Given the description of an element on the screen output the (x, y) to click on. 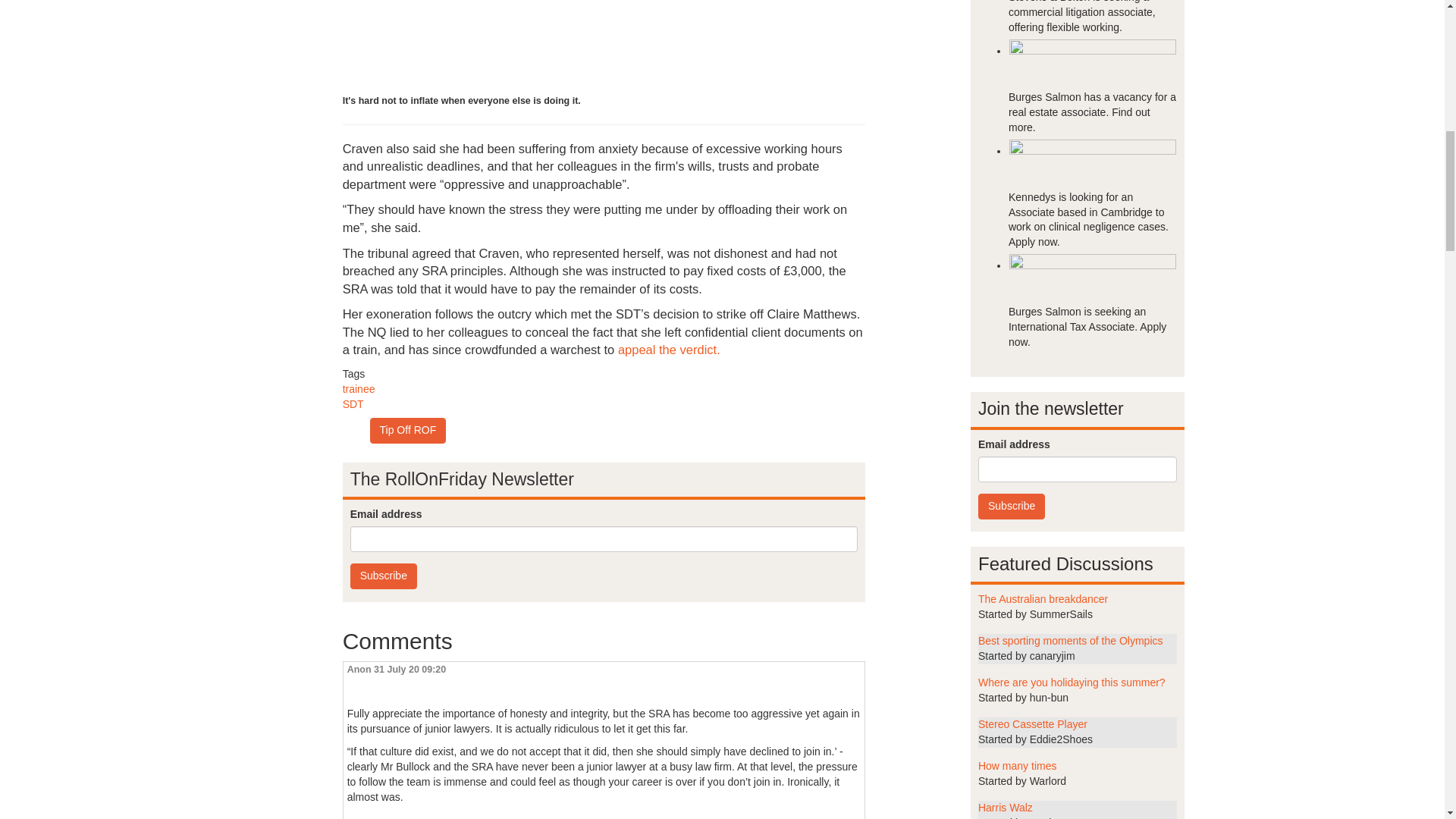
trainee (358, 388)
SDT (353, 404)
appeal the verdict. (668, 349)
